Given the description of an element on the screen output the (x, y) to click on. 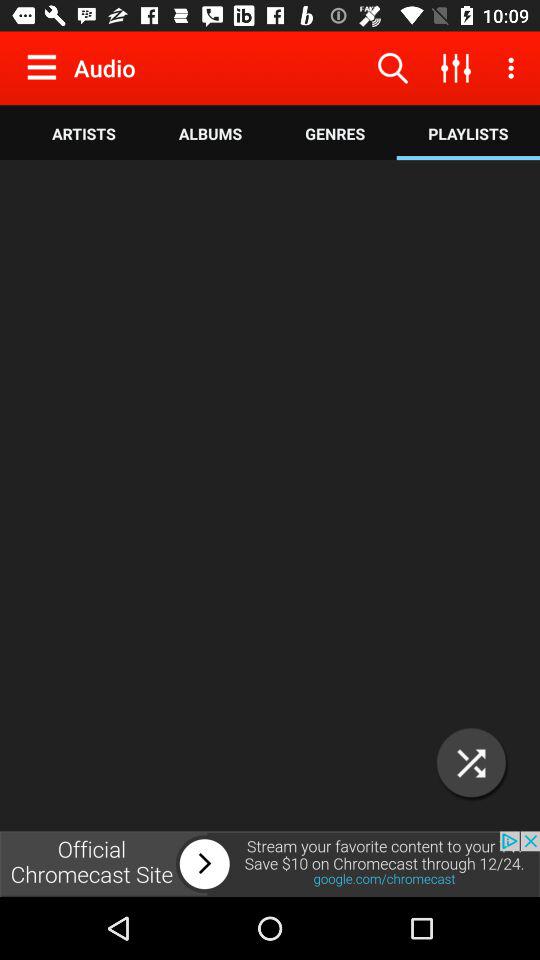
music player option (270, 496)
